Given the description of an element on the screen output the (x, y) to click on. 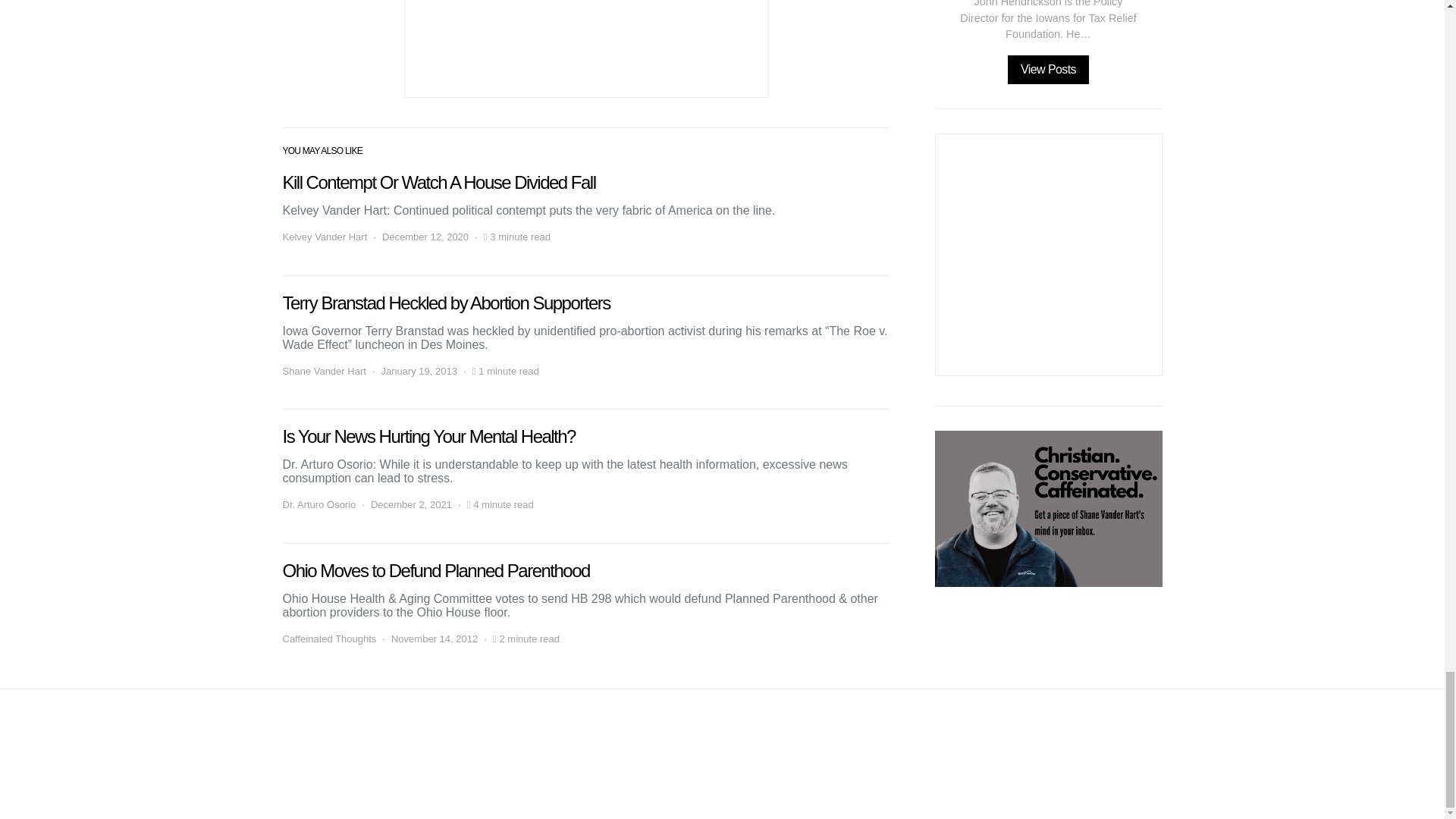
View all posts by Shane Vander Hart (323, 371)
View all posts by Caffeinated Thoughts (328, 638)
View all posts by Dr. Arturo Osorio (318, 504)
View all posts by Kelvey Vander Hart (324, 237)
